Given the description of an element on the screen output the (x, y) to click on. 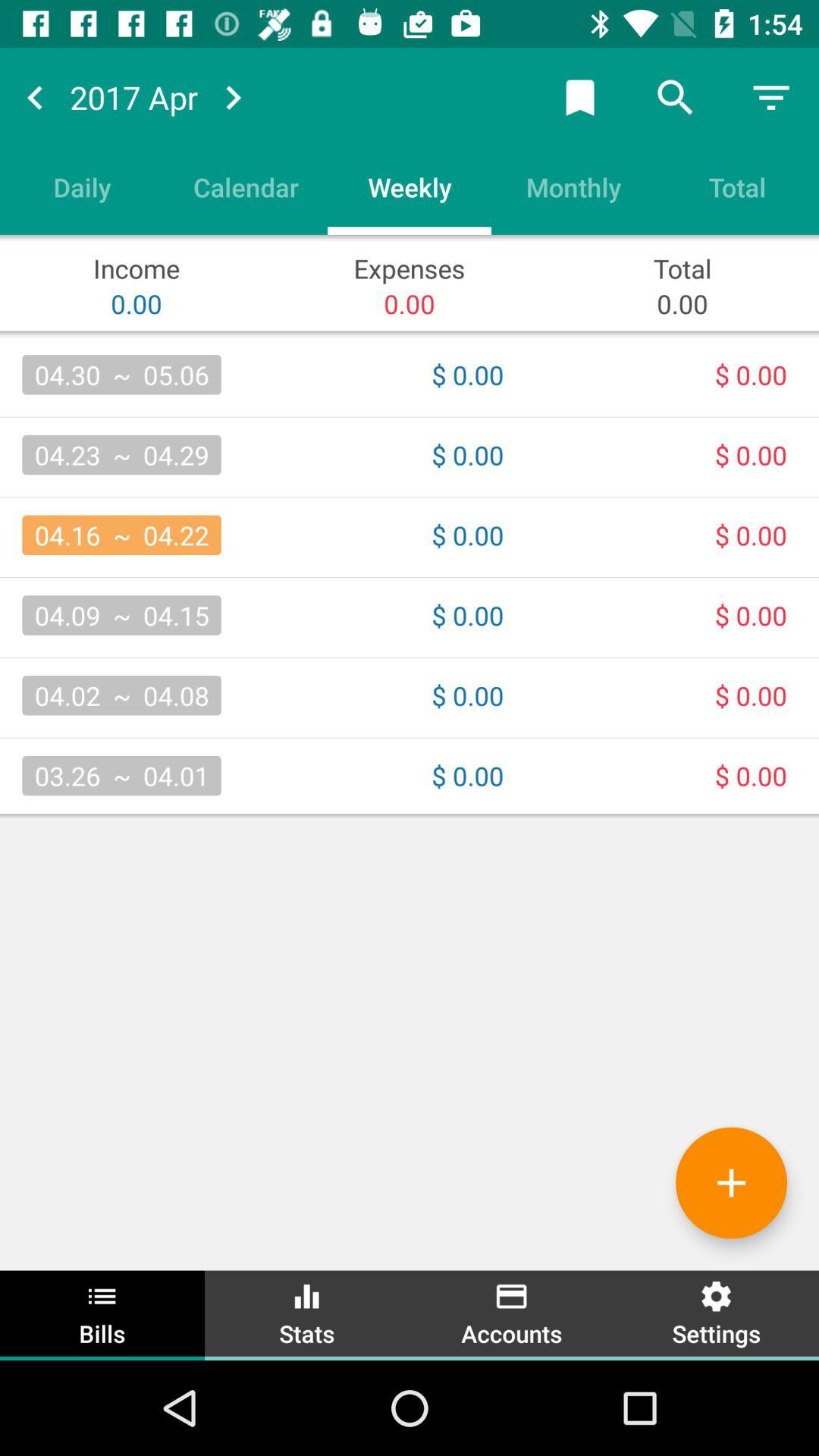
tap the icon above monthly icon (579, 97)
